Given the description of an element on the screen output the (x, y) to click on. 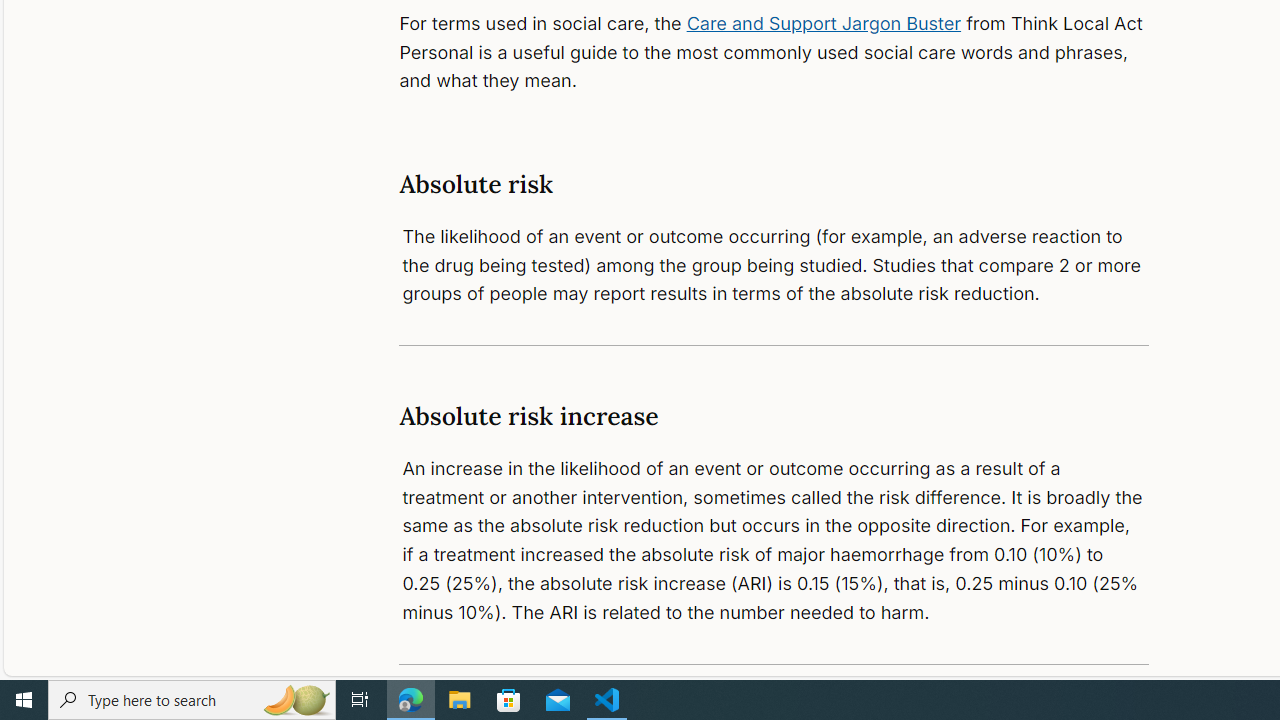
Care and Support Jargon Buster (824, 22)
